Given the description of an element on the screen output the (x, y) to click on. 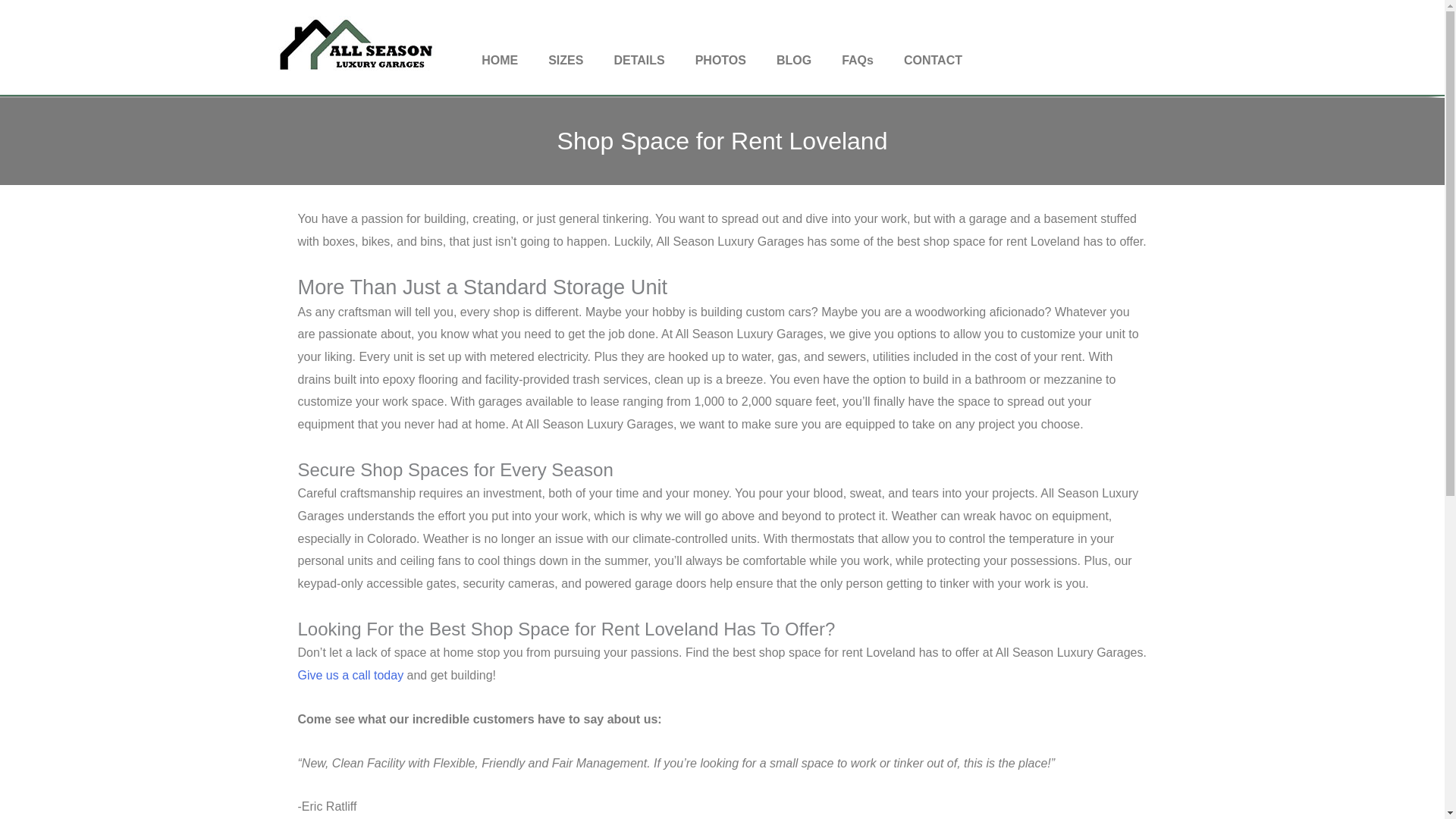
HOME (498, 59)
BLOG (794, 59)
SIZES (565, 59)
Give us a call today (350, 675)
DETAILS (638, 59)
PHOTOS (720, 59)
FAQs (857, 59)
CONTACT (932, 59)
